Given the description of an element on the screen output the (x, y) to click on. 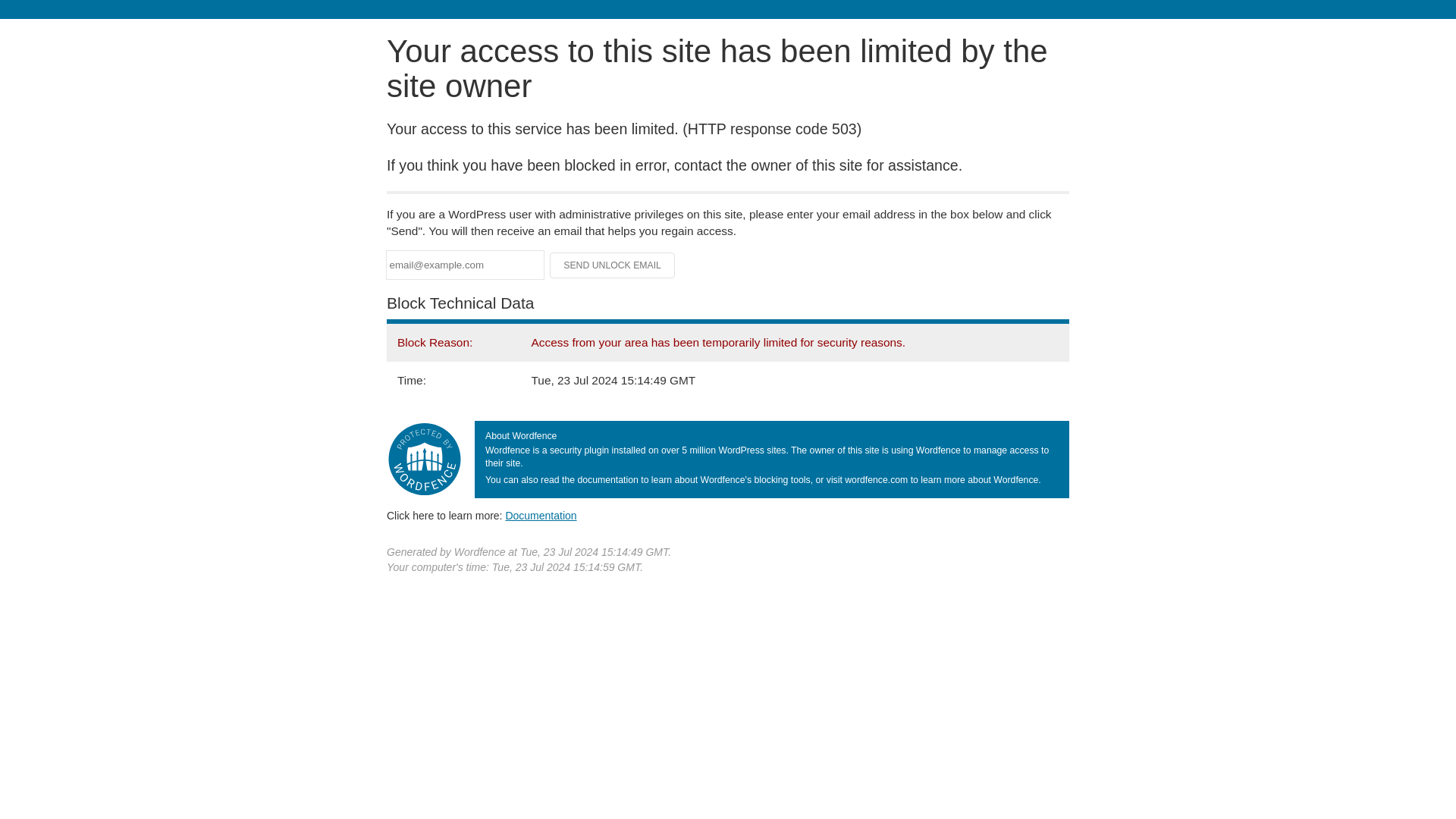
Documentation (540, 515)
Send Unlock Email (612, 265)
Send Unlock Email (612, 265)
